Given the description of an element on the screen output the (x, y) to click on. 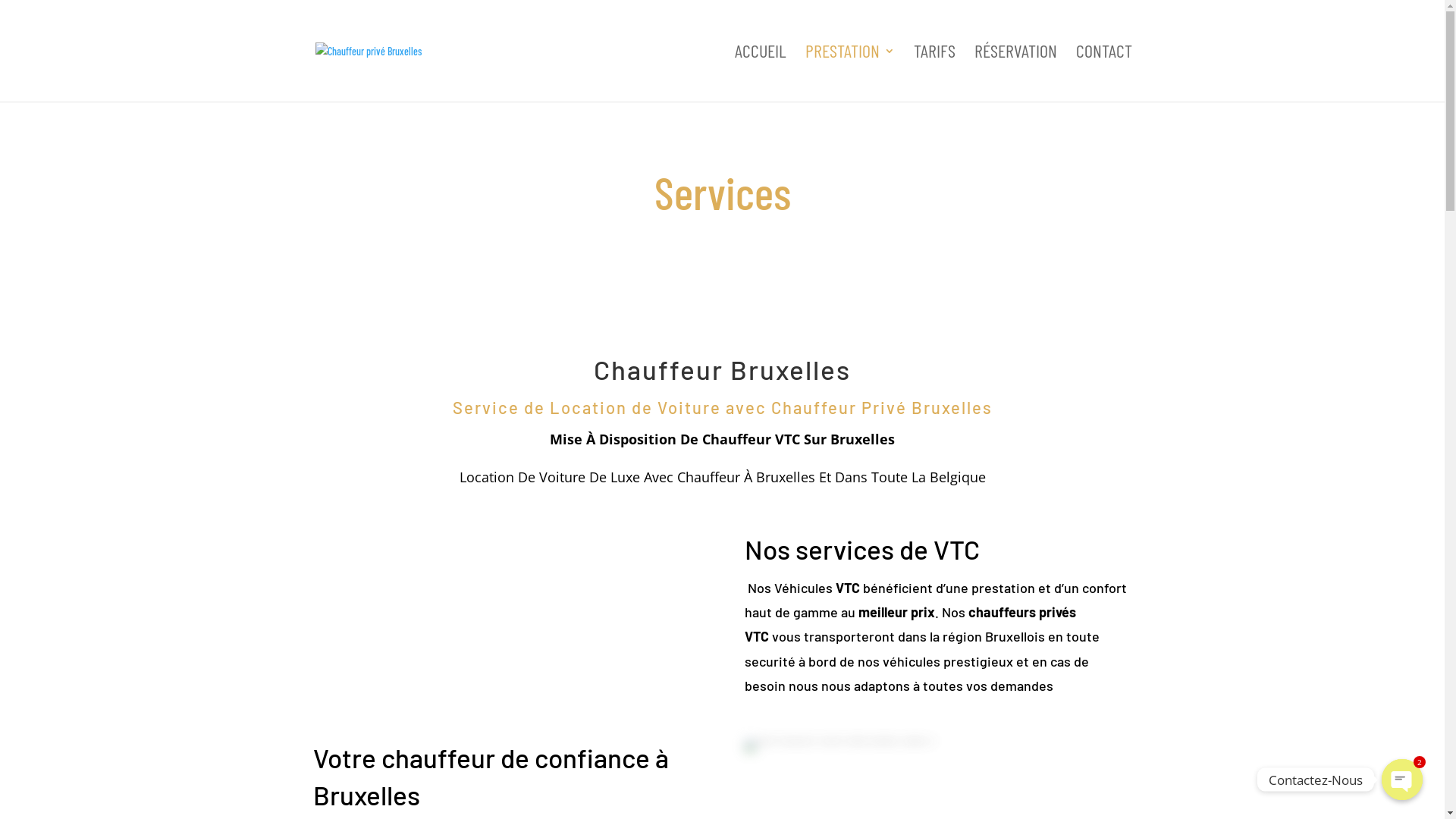
chauffeur-de-confiance-bruxelles Element type: hover (839, 745)
PRESTATION Element type: text (849, 73)
CONTACT Element type: text (1103, 73)
ACCUEIL Element type: text (759, 73)
TARIFS Element type: text (933, 73)
